Given the description of an element on the screen output the (x, y) to click on. 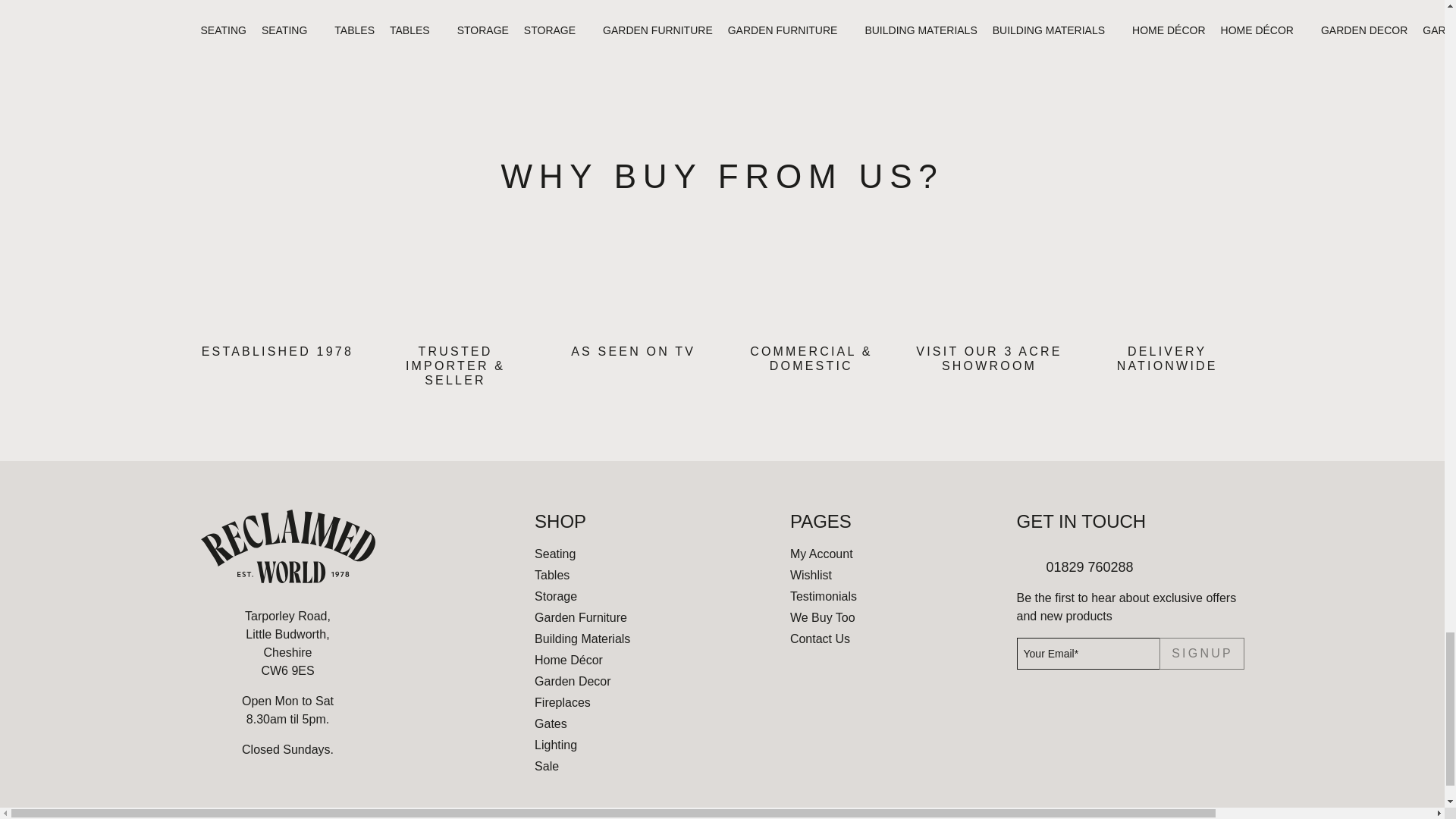
Signup (1200, 653)
